Given the description of an element on the screen output the (x, y) to click on. 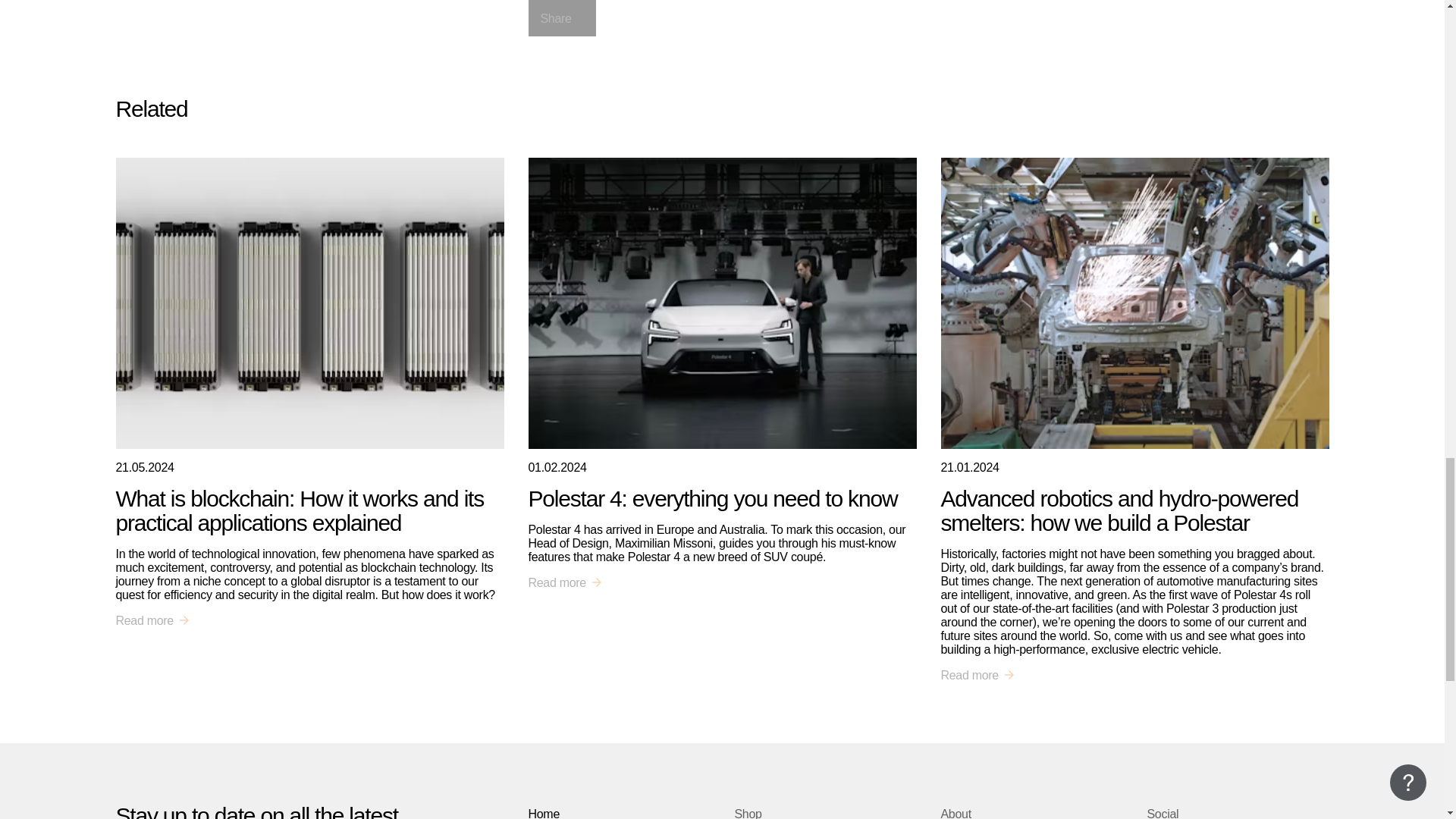
Read more (152, 621)
Share (561, 18)
Read more (564, 582)
